Given the description of an element on the screen output the (x, y) to click on. 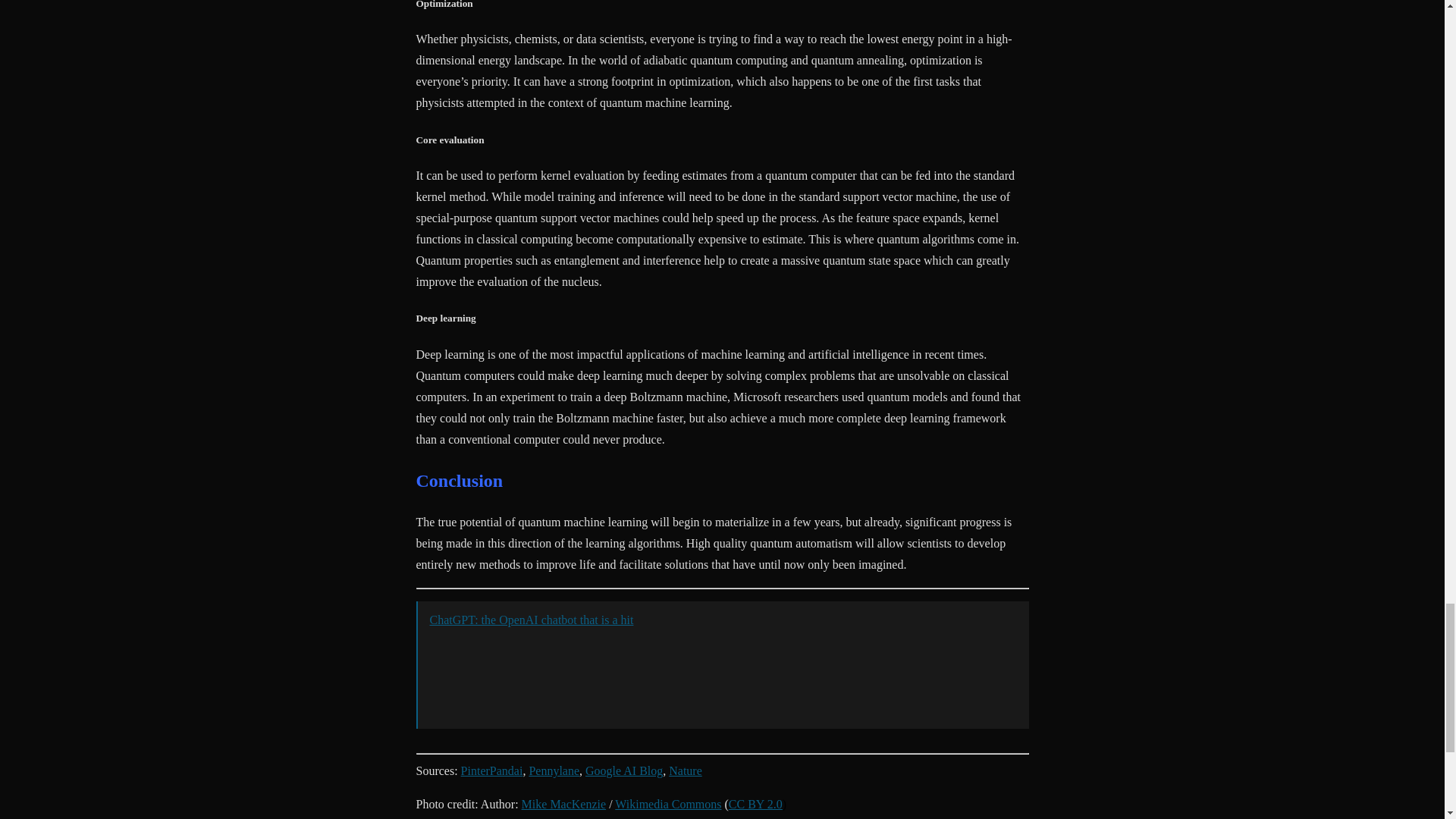
Pennylane (553, 770)
Google AI Blog (623, 770)
CC BY 2.0 (756, 803)
PinterPandai (491, 770)
ChatGPT: the OpenAI chatbot that is a hit (531, 619)
Nature (684, 770)
Mike MacKenzie (564, 803)
Wikimedia Commons (667, 803)
